Given the description of an element on the screen output the (x, y) to click on. 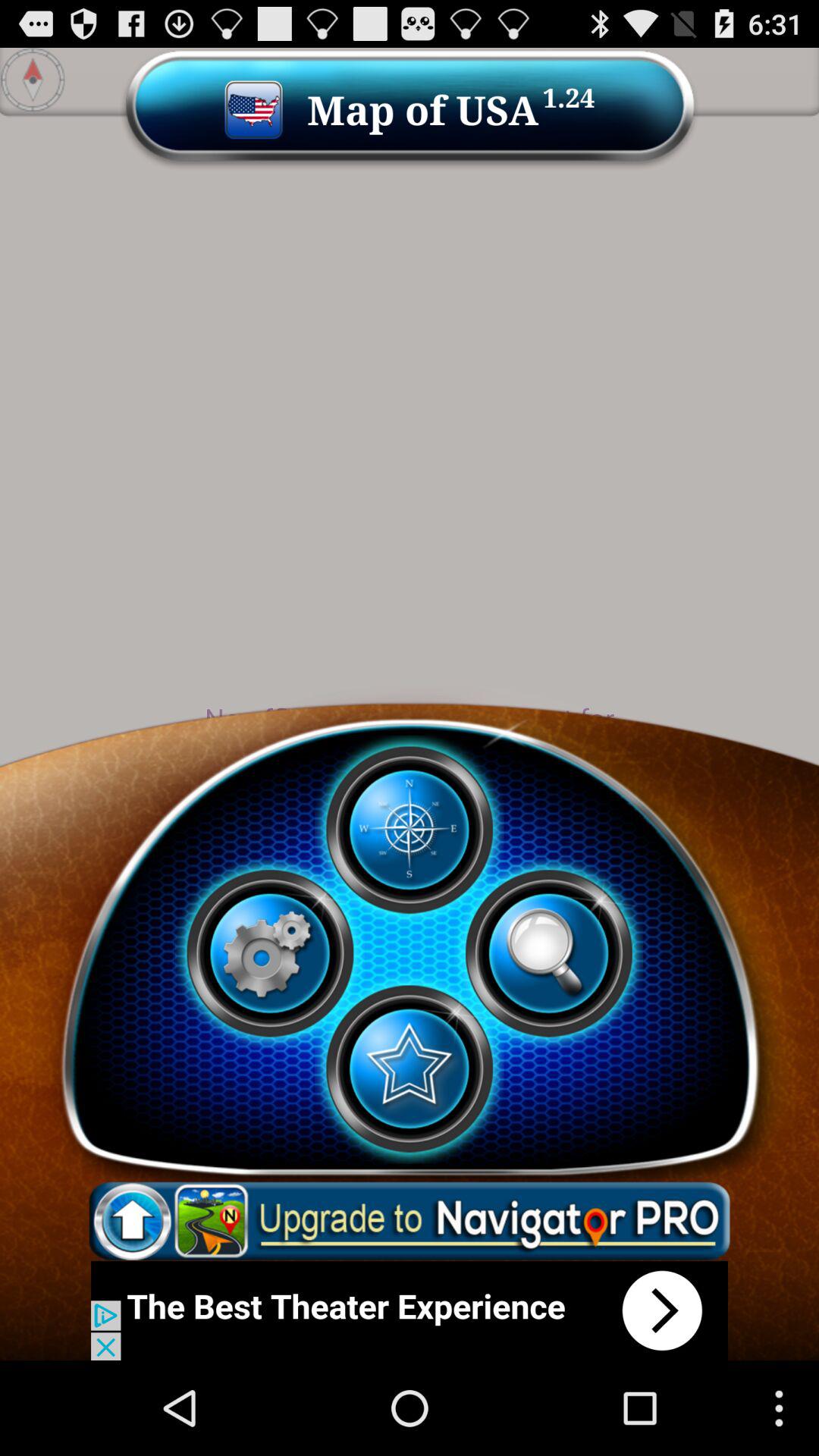
click on compass (408, 829)
